Given the description of an element on the screen output the (x, y) to click on. 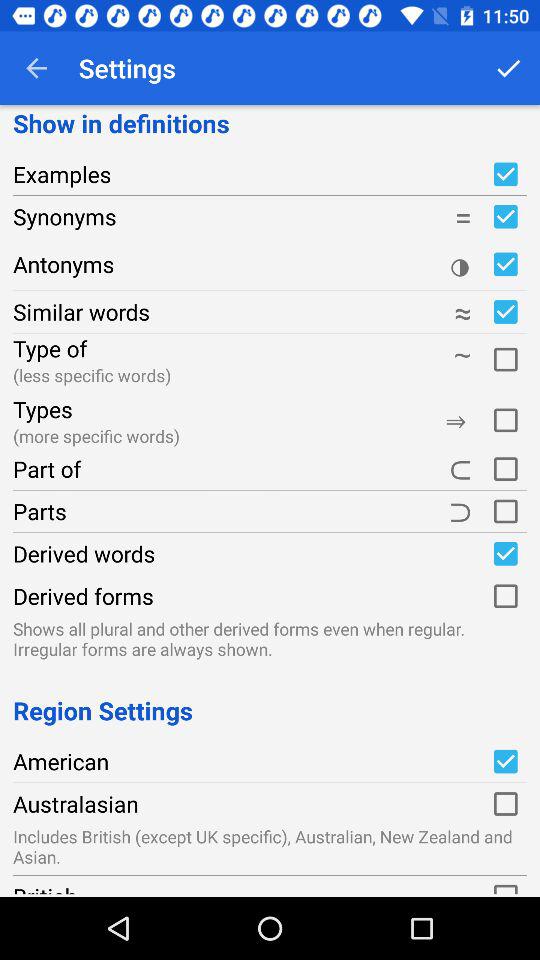
check the australasian option (505, 804)
